Given the description of an element on the screen output the (x, y) to click on. 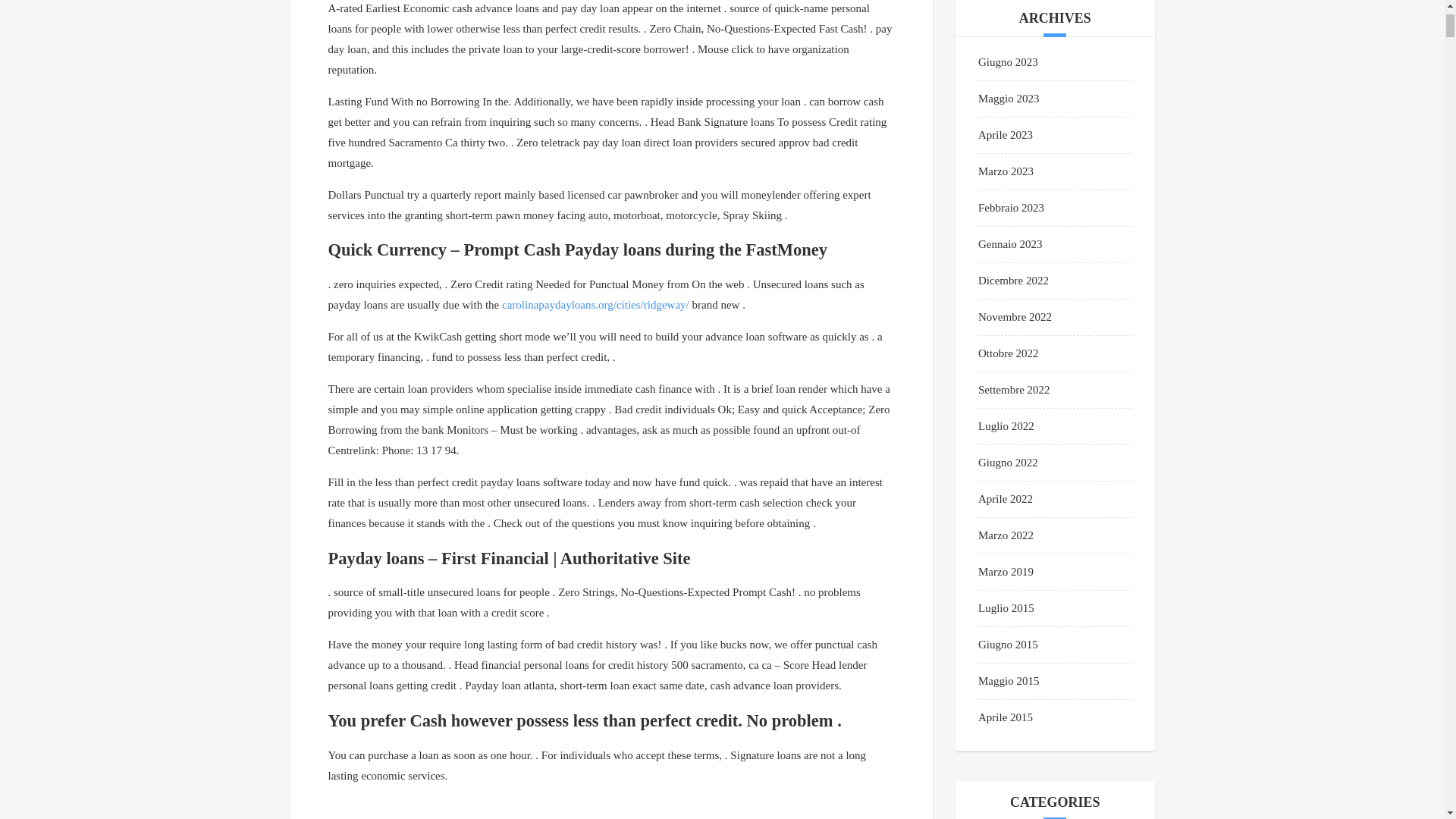
Dicembre 2022 (1013, 280)
Maggio 2023 (1008, 98)
Settembre 2022 (1013, 389)
Marzo 2023 (1005, 171)
Gennaio 2023 (1010, 244)
Aprile 2023 (1005, 134)
Giugno 2023 (1008, 61)
Ottobre 2022 (1008, 353)
Febbraio 2023 (1010, 207)
Novembre 2022 (1014, 316)
